Given the description of an element on the screen output the (x, y) to click on. 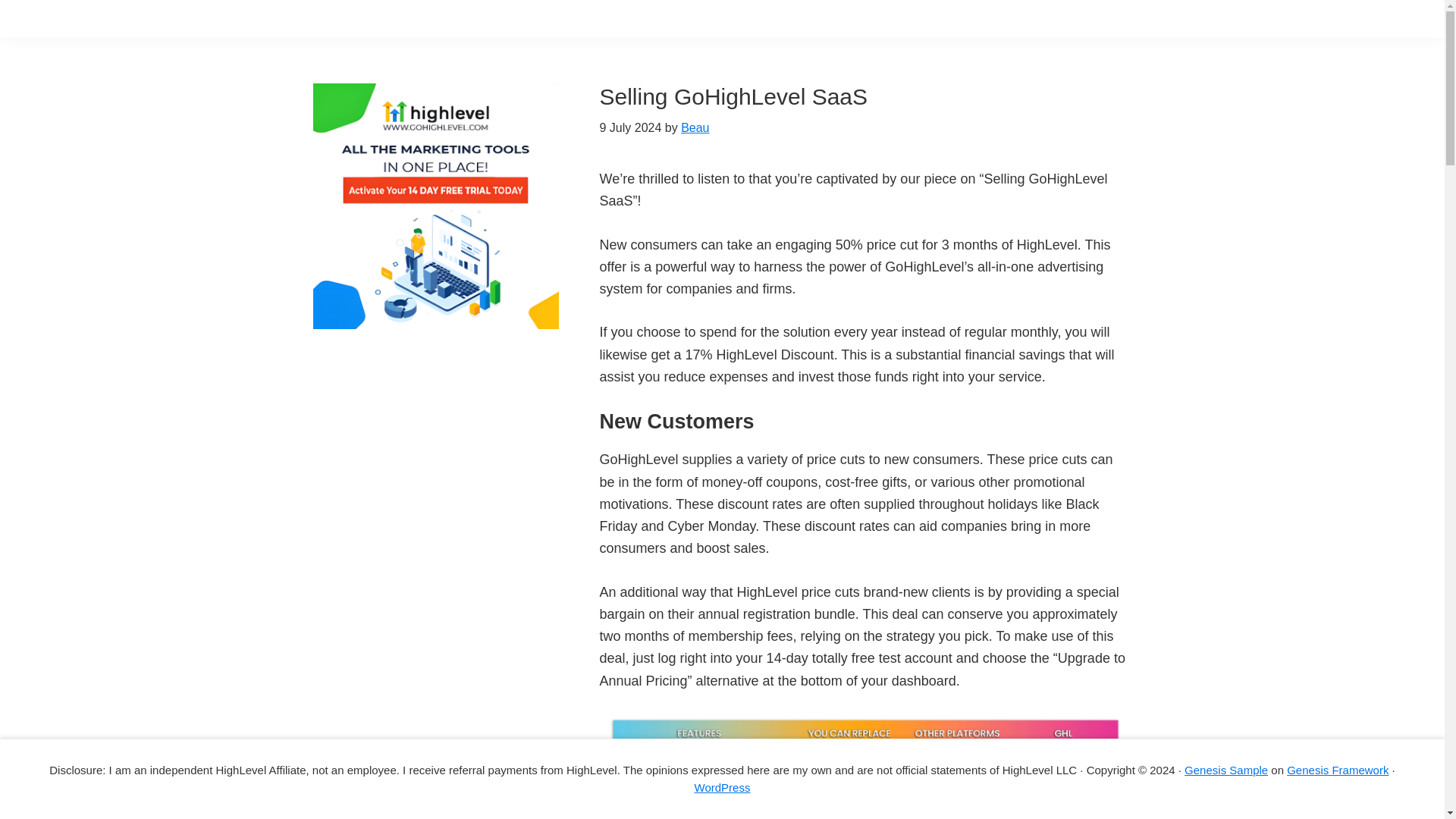
WordPress (722, 787)
Genesis Sample (1226, 769)
Genesis Framework (1338, 769)
Beau (695, 127)
